Given the description of an element on the screen output the (x, y) to click on. 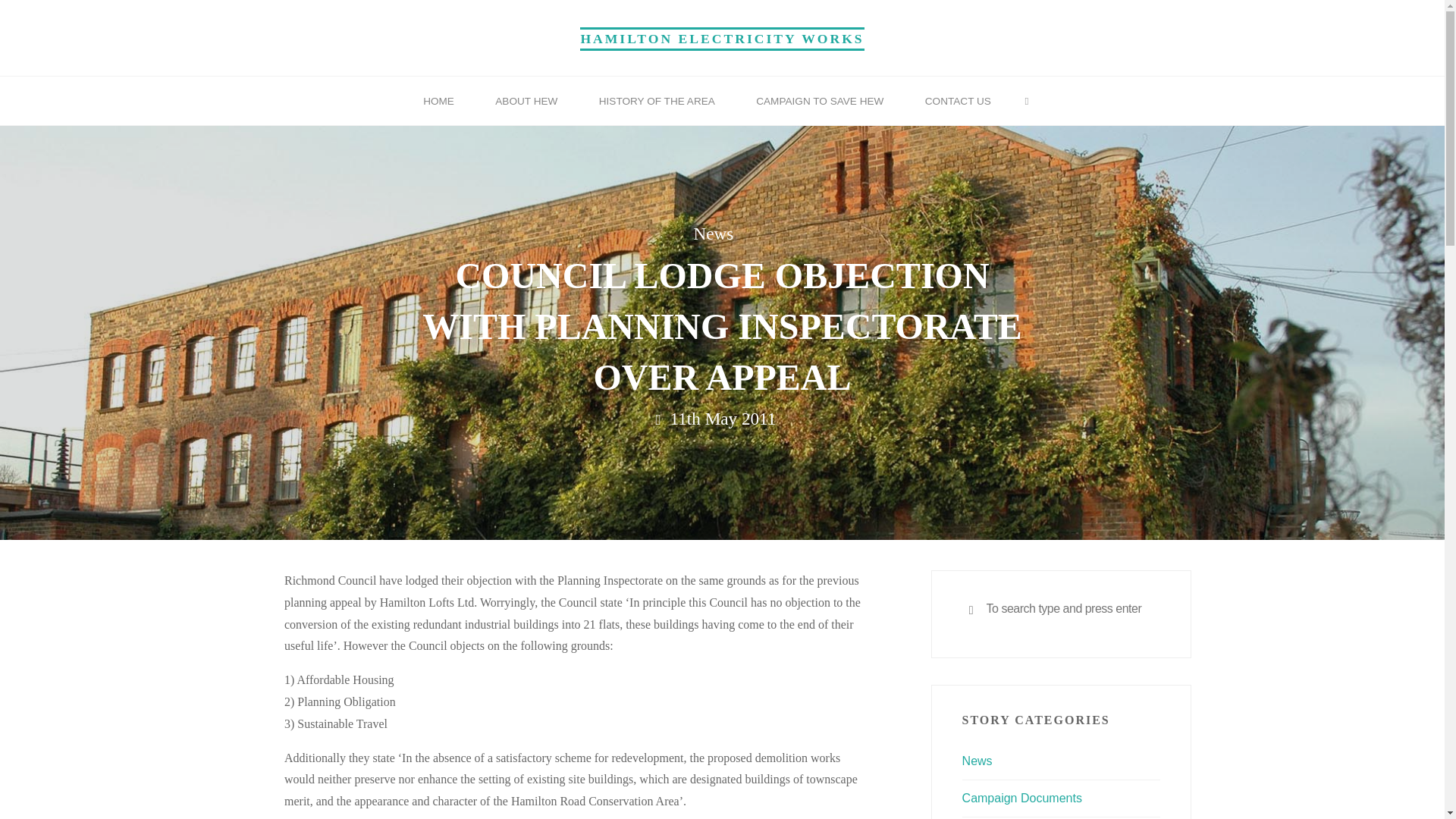
News (977, 760)
HAMILTON ELECTRICITY WORKS (721, 38)
Campaign Documents (1021, 797)
ABOUT HEW (526, 101)
CAMPAIGN TO SAVE HEW (819, 101)
CONTACT US (957, 101)
News (713, 233)
HOME (438, 101)
HISTORY OF THE AREA (656, 101)
